Given the description of an element on the screen output the (x, y) to click on. 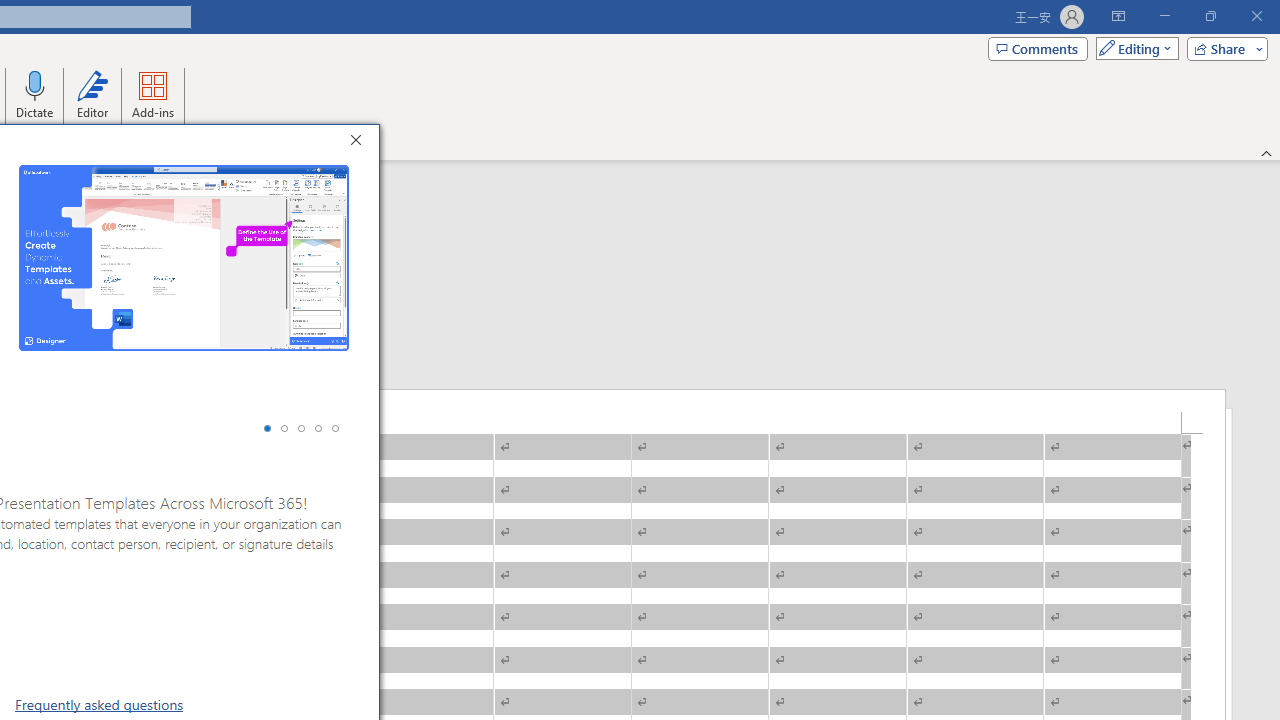
Screenshot 1 selected (267, 428)
Frequently asked questions (99, 704)
